Given the description of an element on the screen output the (x, y) to click on. 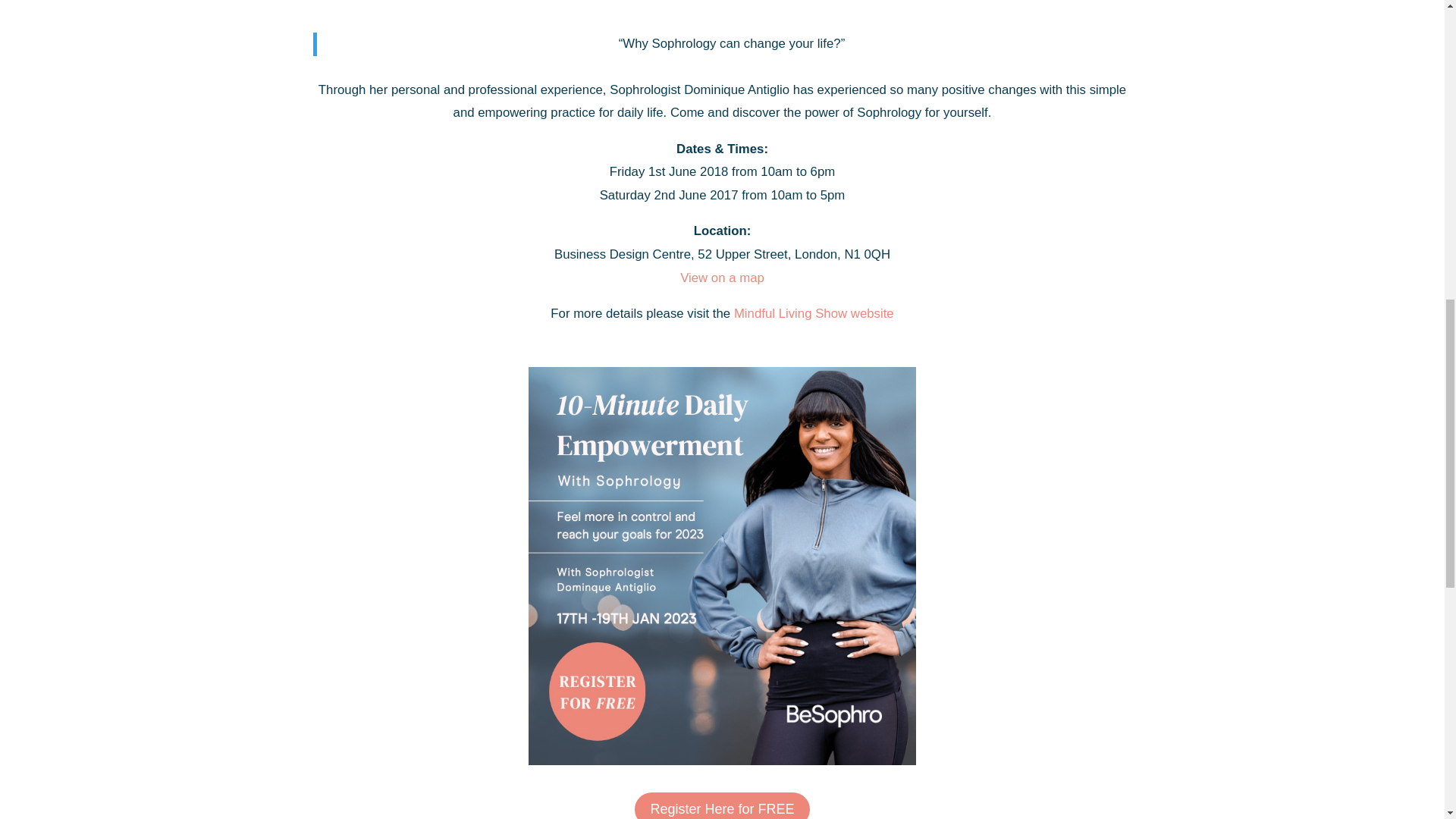
Mindful Living Show website (813, 313)
View on a map (721, 278)
Register Here for FREE (721, 805)
